Given the description of an element on the screen output the (x, y) to click on. 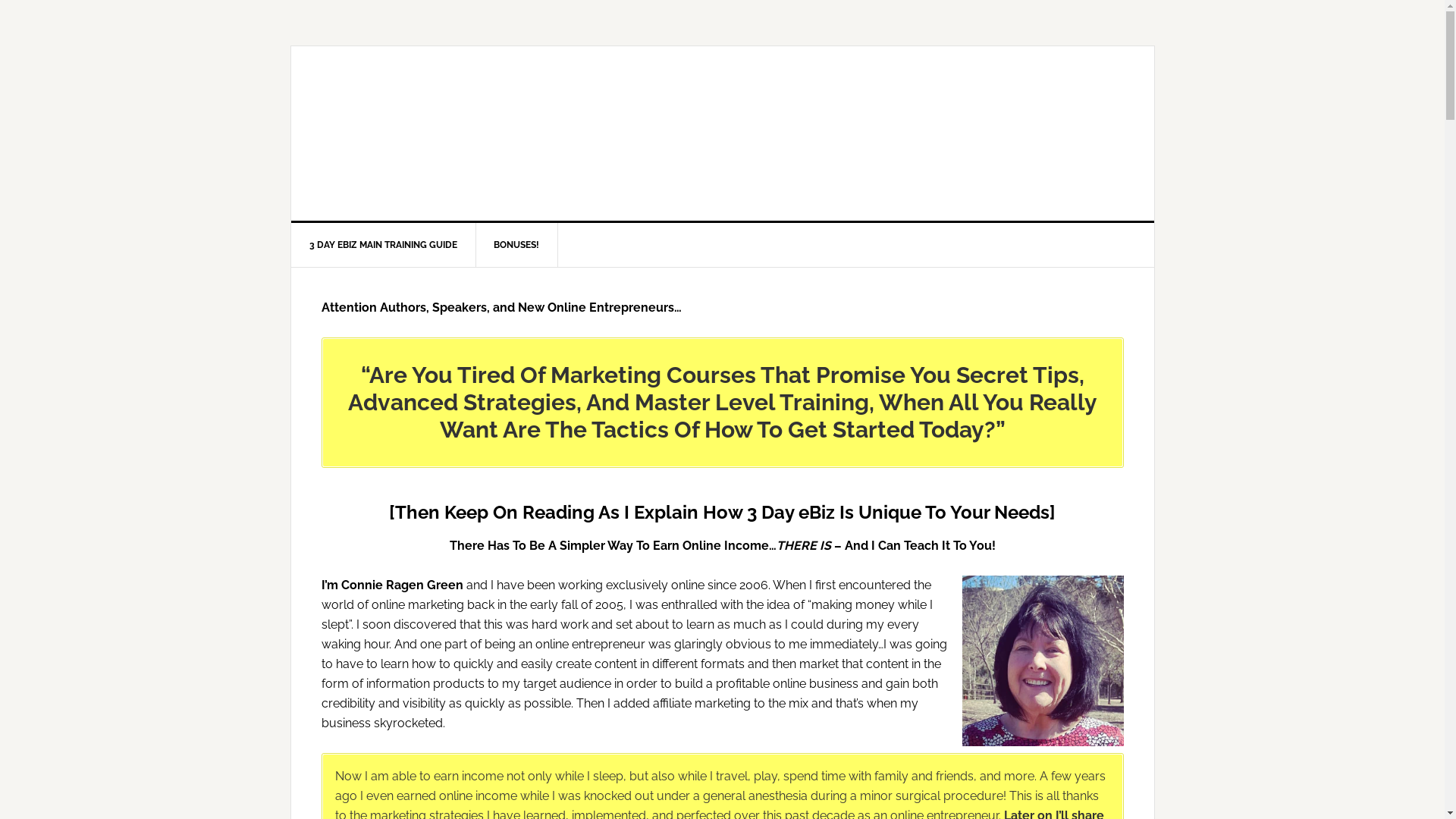
3 DAY EBIZ MAIN TRAINING GUIDE Element type: text (383, 244)
BONUSES! Element type: text (515, 244)
3 DAY EBIZ Element type: text (722, 133)
